Given the description of an element on the screen output the (x, y) to click on. 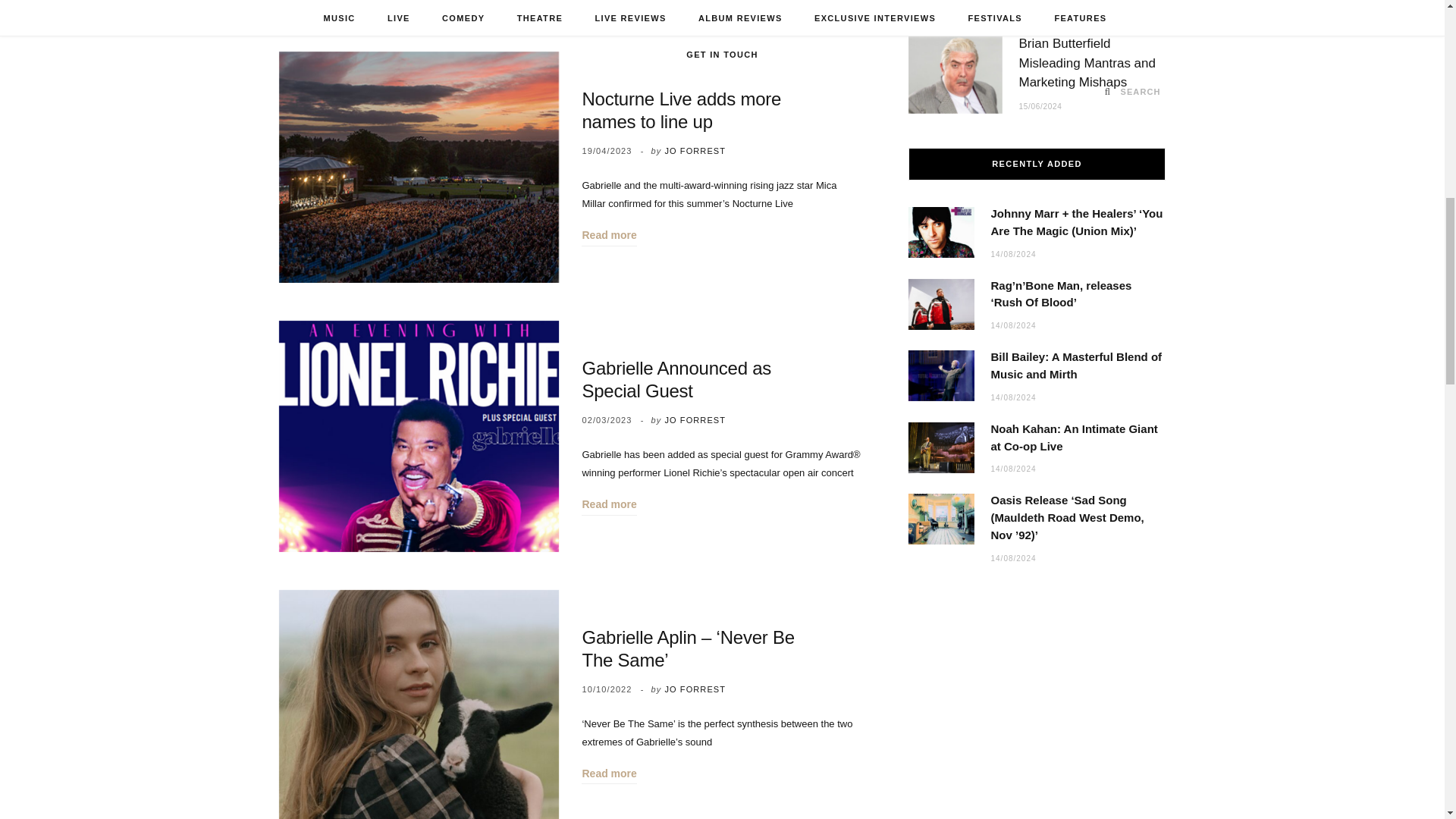
Read more (608, 235)
Nocturne Live adds more names to line up (419, 166)
Posts by Jo Forrest (694, 150)
JO FORREST (694, 688)
Lionel Richie headlines Lytham Festival Day 4 (419, 6)
Read more (608, 504)
Nocturne Live adds more names to line up (680, 109)
Read more (608, 773)
Gabrielle Announced as Special Guest (419, 436)
Posts by Jo Forrest (694, 420)
